Given the description of an element on the screen output the (x, y) to click on. 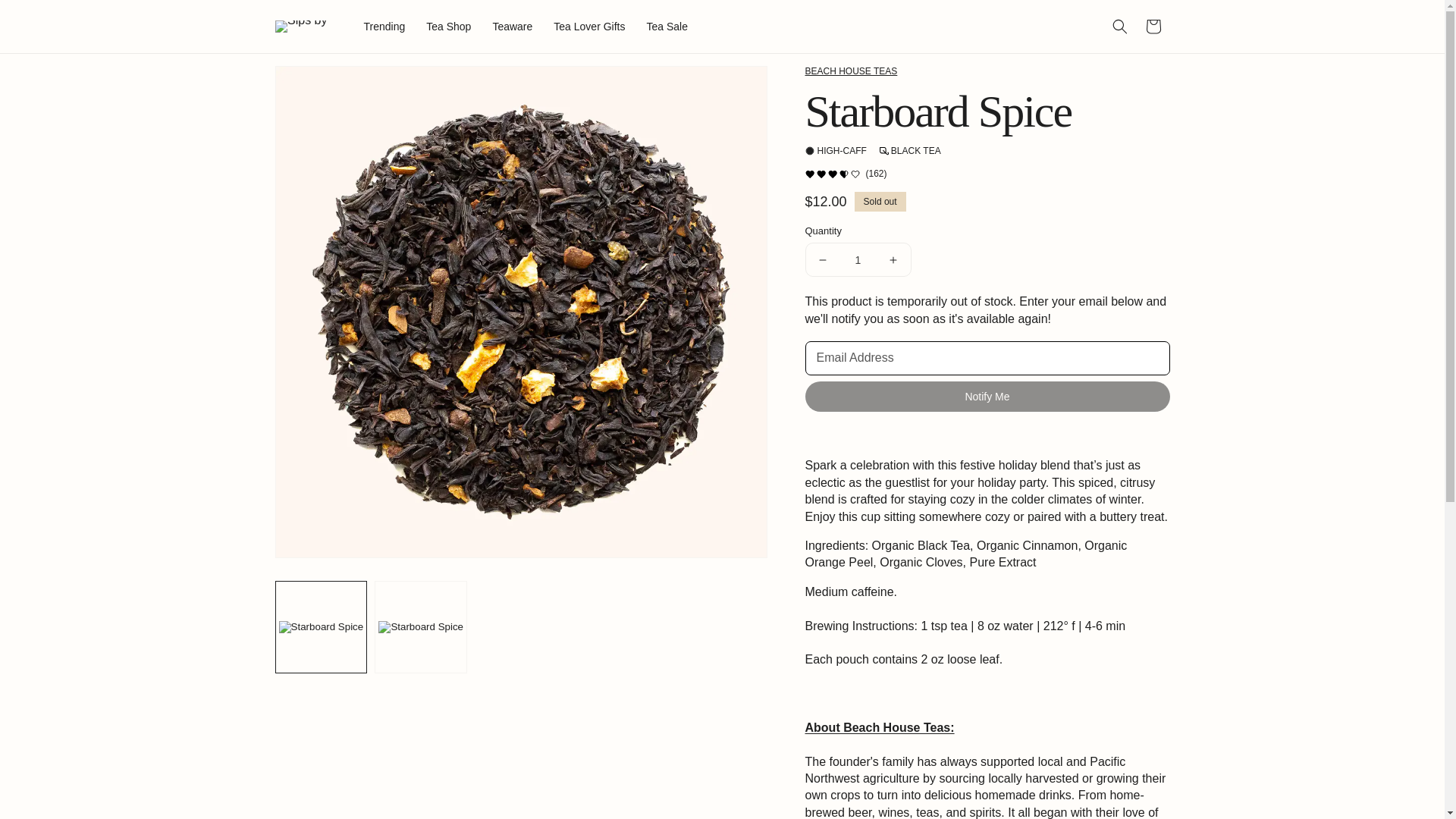
Tea Lover Gifts (588, 26)
1 (858, 259)
Trending (383, 26)
Tea Shop (448, 26)
Tea Sale (666, 26)
Teaware (512, 26)
